Given the description of an element on the screen output the (x, y) to click on. 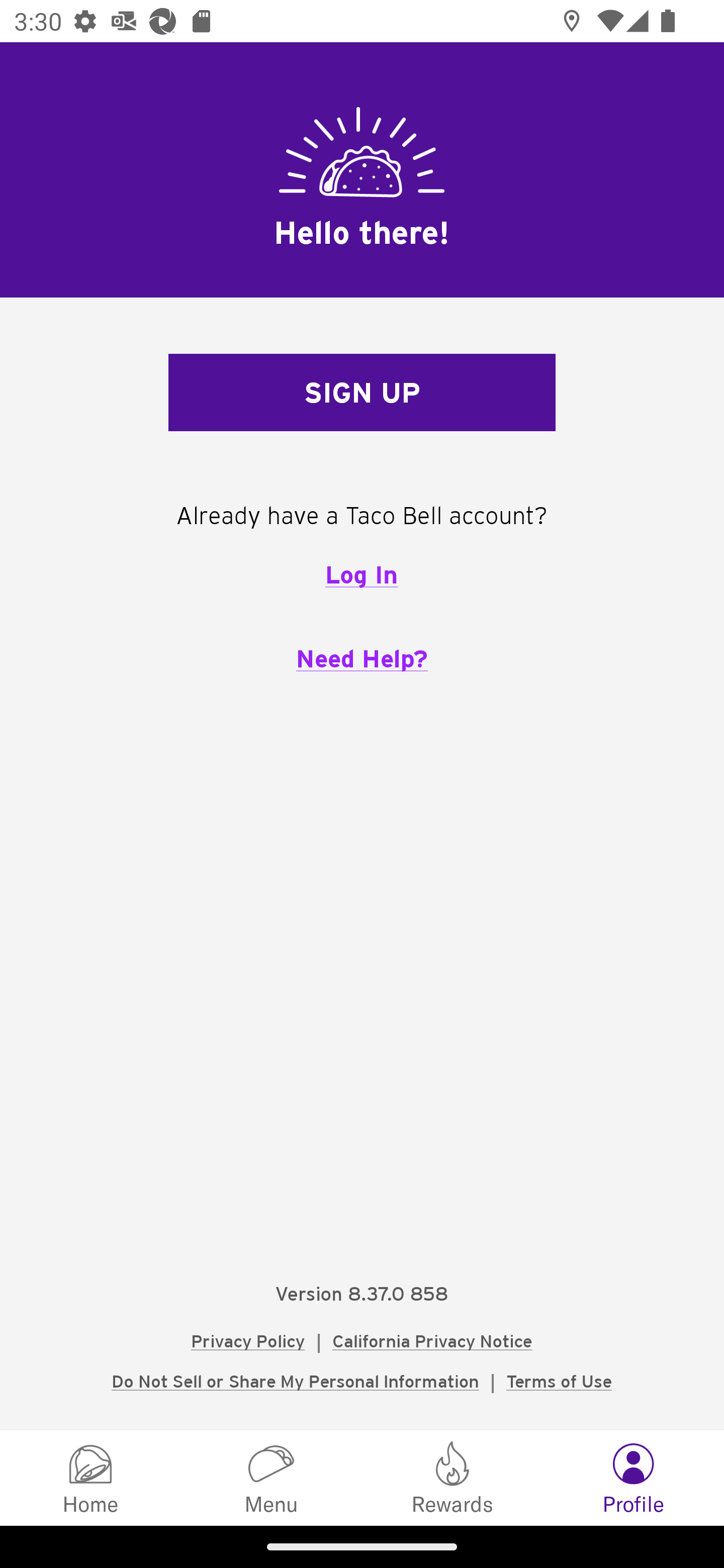
SIGN UP (361, 392)
Log In (361, 574)
Need Help? (361, 658)
Privacy Policy (248, 1341)
California Privacy Notice (432, 1341)
Do Not Sell or Share My Personal Information (295, 1381)
Terms of Use (558, 1381)
Home (90, 1476)
Menu (271, 1476)
Rewards (452, 1476)
My Info Profile (633, 1476)
